Given the description of an element on the screen output the (x, y) to click on. 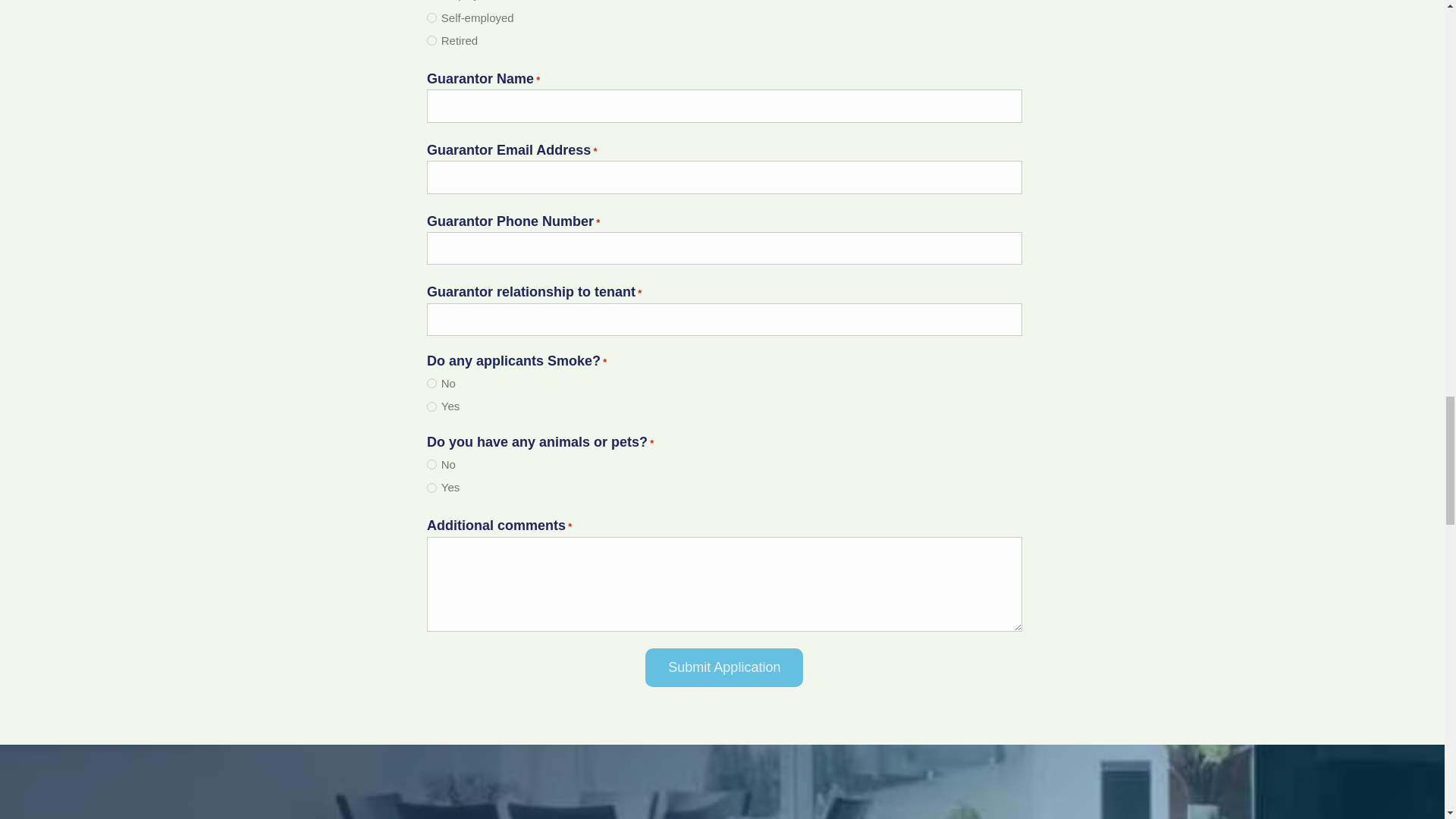
Retired (431, 40)
Self-employed (431, 17)
Submit Application (724, 667)
